Given the description of an element on the screen output the (x, y) to click on. 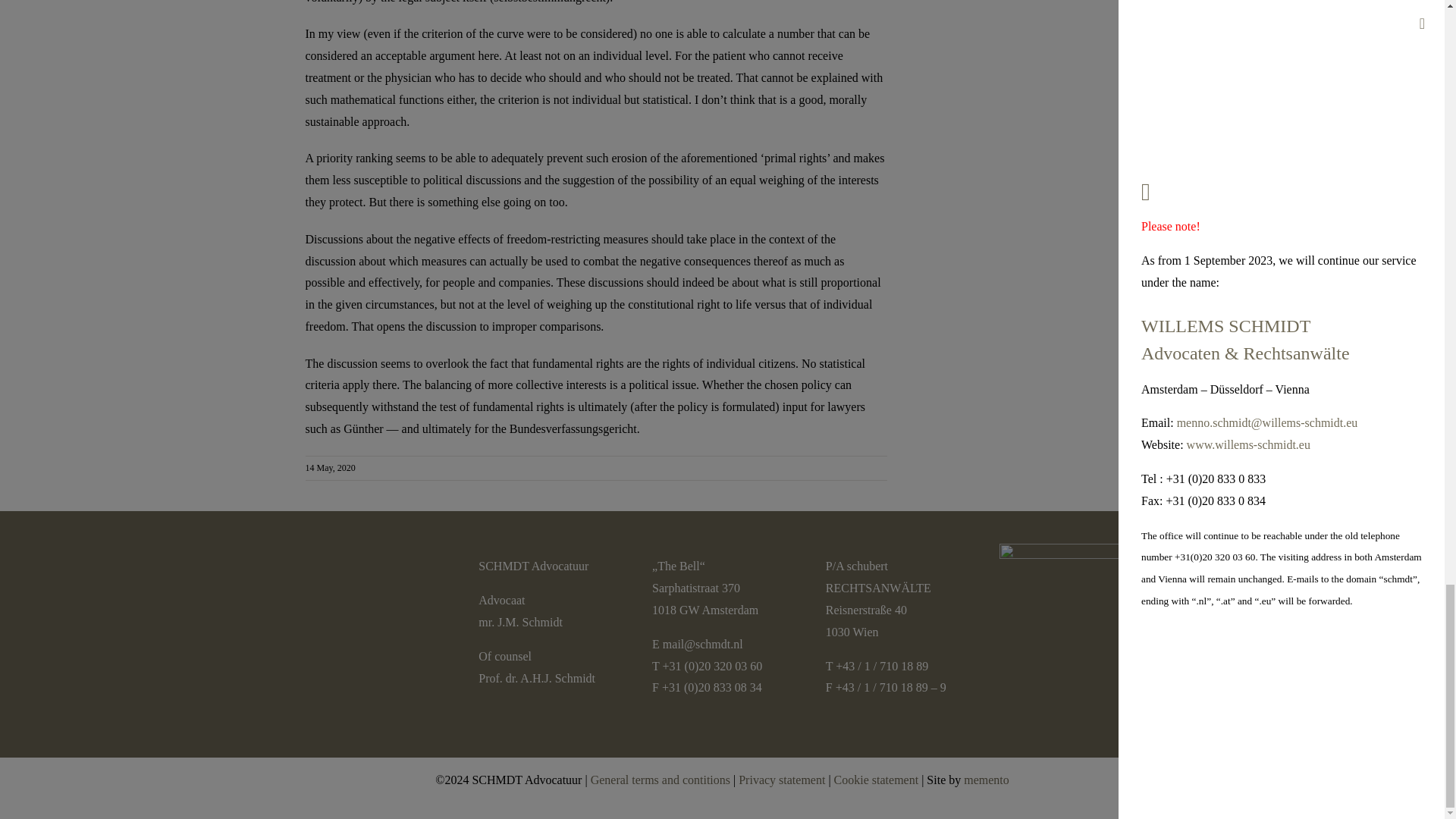
Privacy statement (781, 779)
Cookie statement (876, 779)
WordPress specialist Amsterdam (986, 779)
General terms and contitions (660, 779)
memento (986, 779)
